Given the description of an element on the screen output the (x, y) to click on. 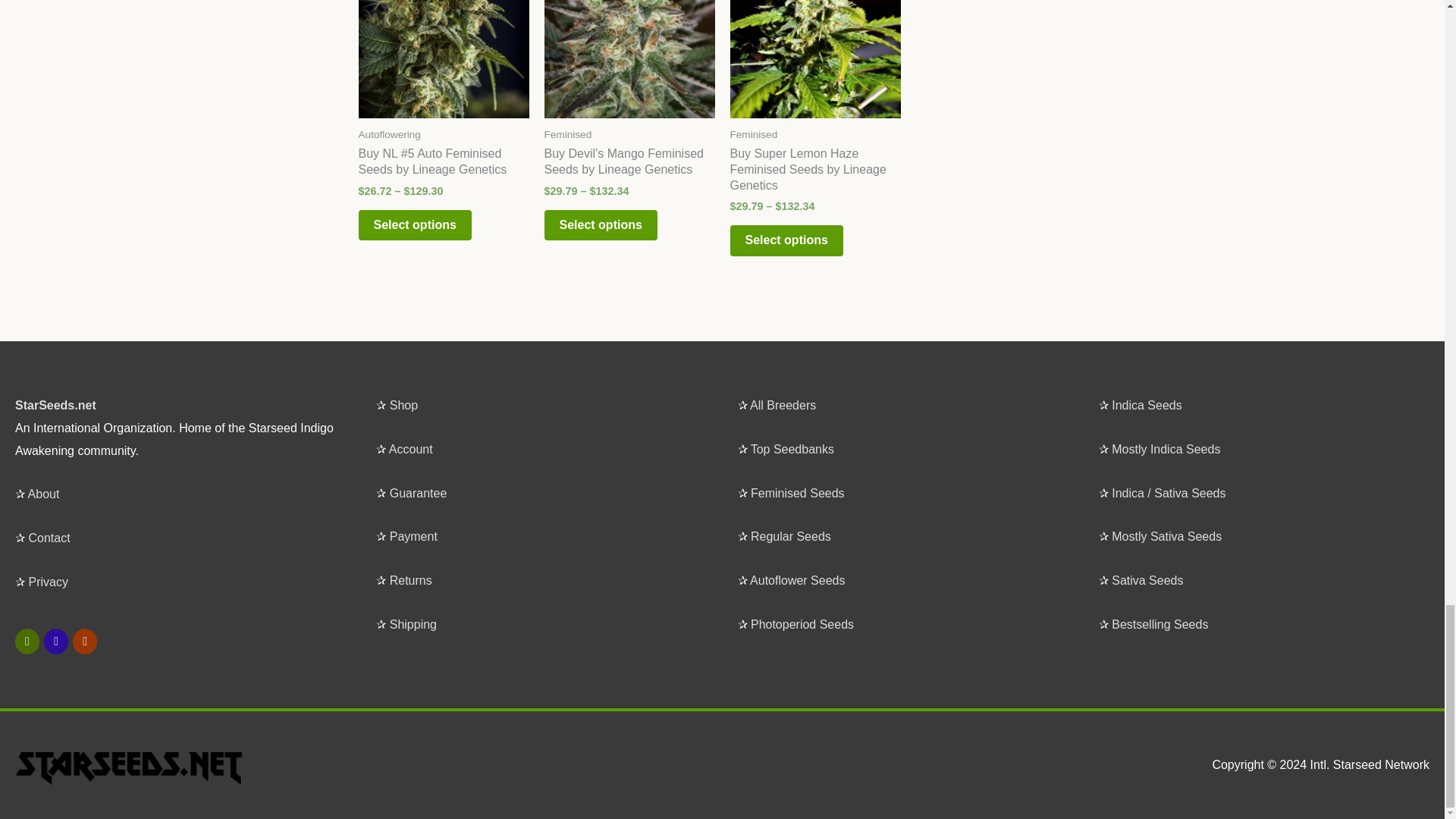
Intl. Starseed Network on Envelope (84, 641)
Intl. Starseed Network on Facebook (26, 641)
Intl. Starseed Network on Instagram (55, 641)
